Given the description of an element on the screen output the (x, y) to click on. 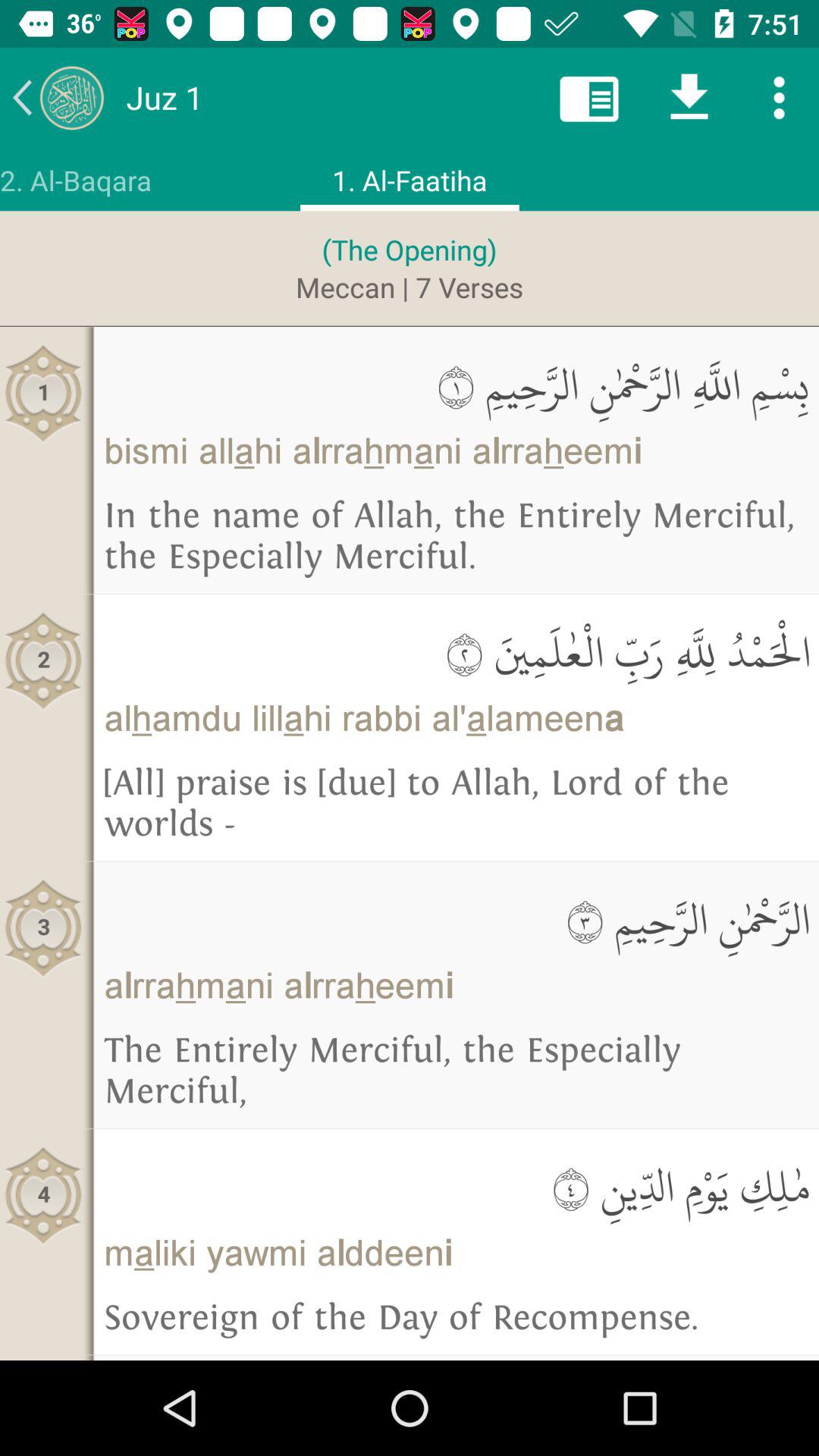
press the item to the right of 1 icon (456, 384)
